Given the description of an element on the screen output the (x, y) to click on. 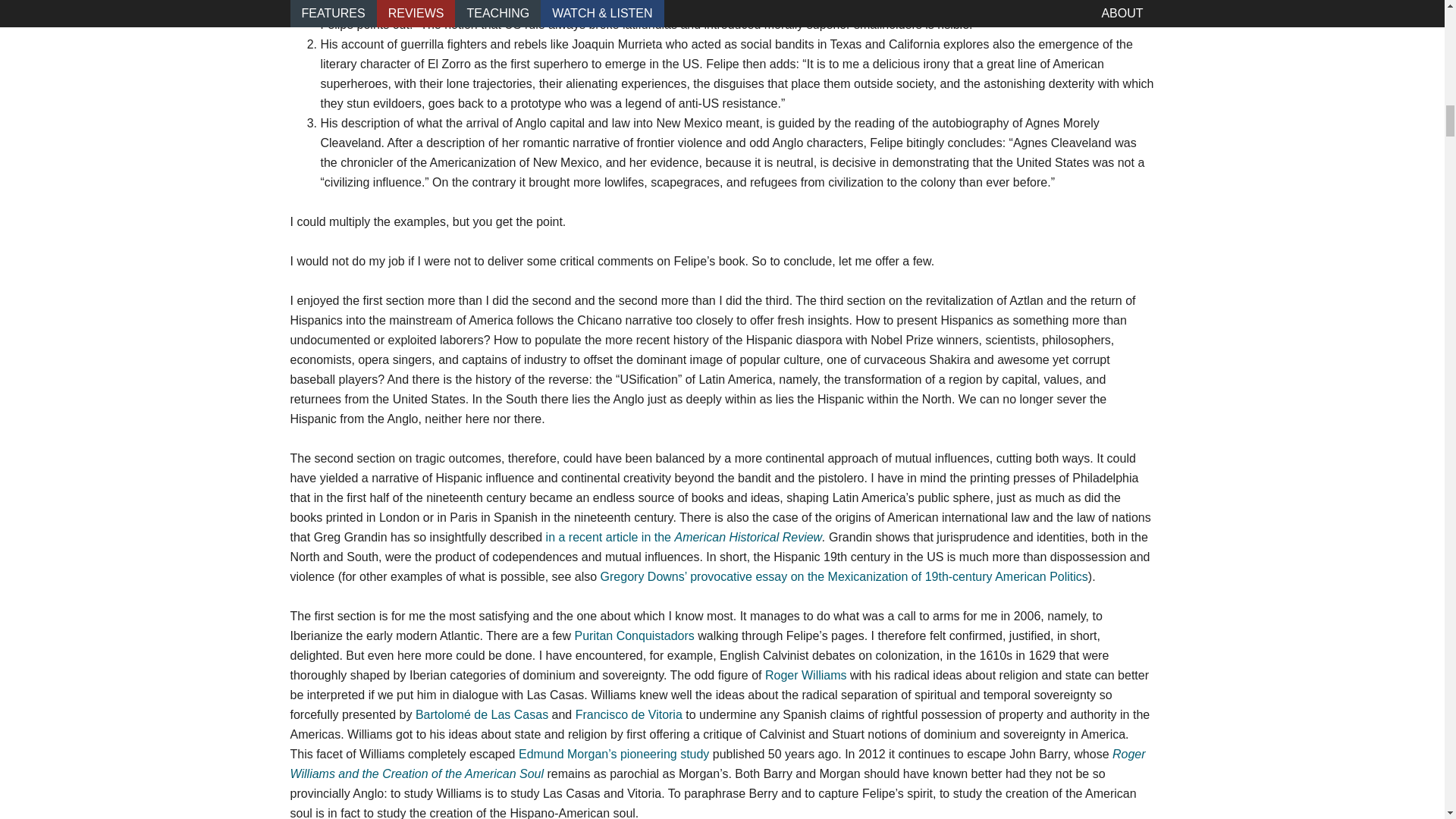
in a recent article in the American Historical Review (684, 536)
Francisco de Vitoria (628, 714)
Roger Williams (806, 675)
Puritan Conquistadors (634, 635)
Roger Williams and the Creation of the American Soul (716, 763)
